Given the description of an element on the screen output the (x, y) to click on. 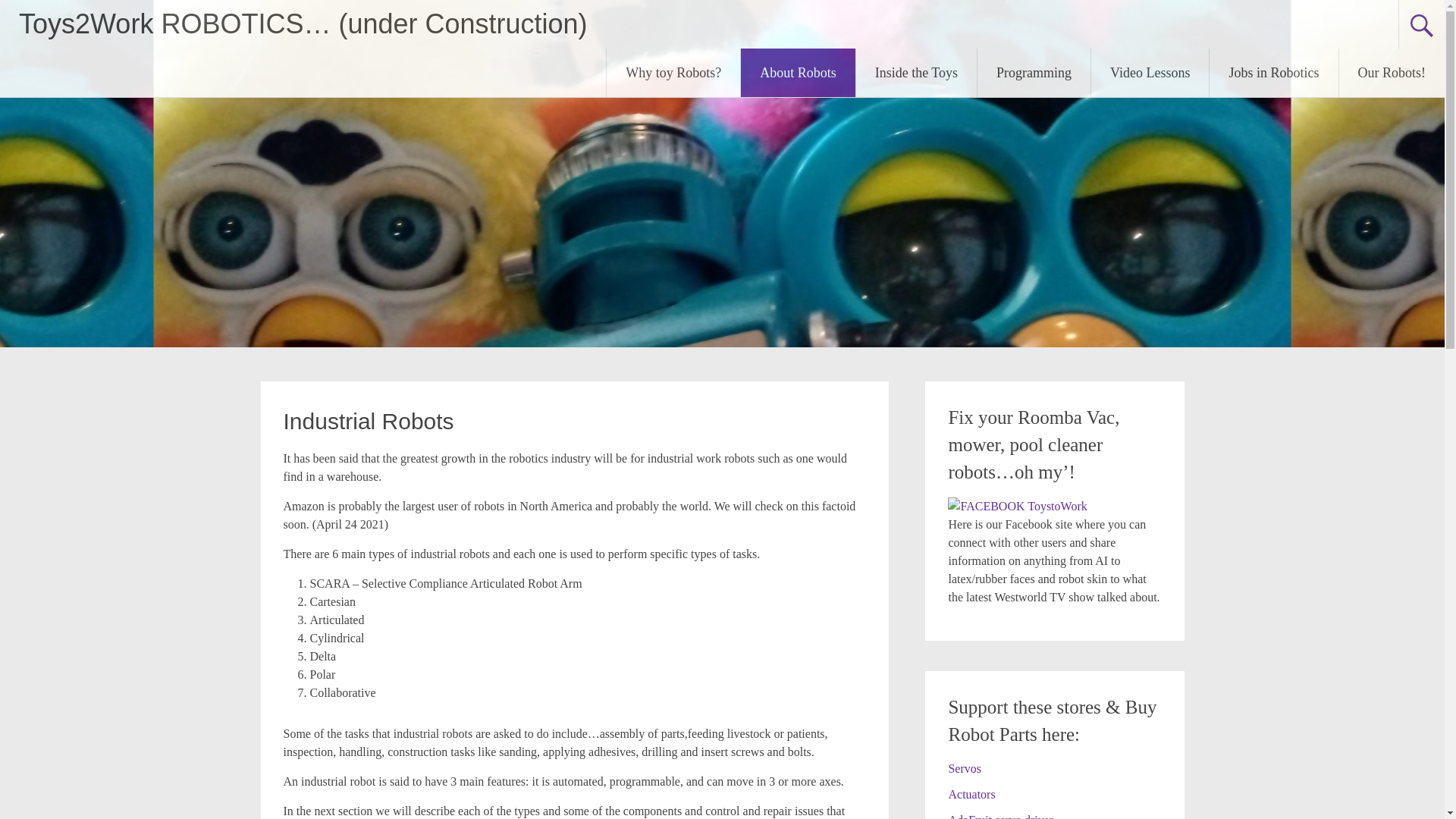
COMING SOON (1016, 505)
About Robots (798, 72)
Why toy Robots? (673, 72)
